Given the description of an element on the screen output the (x, y) to click on. 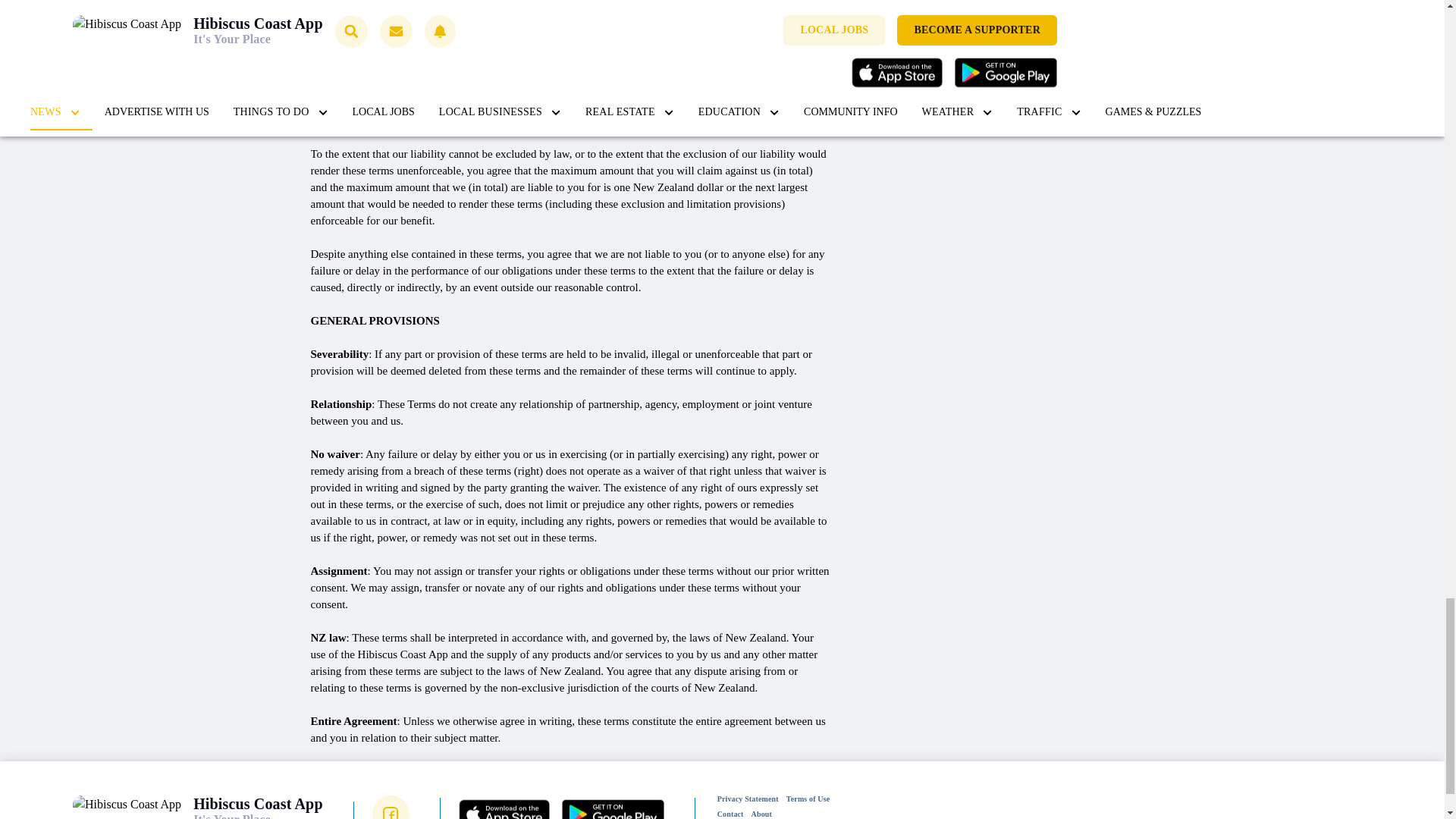
About (762, 812)
Contact (730, 812)
Privacy Statement (748, 798)
Terms of Use (808, 798)
